Given the description of an element on the screen output the (x, y) to click on. 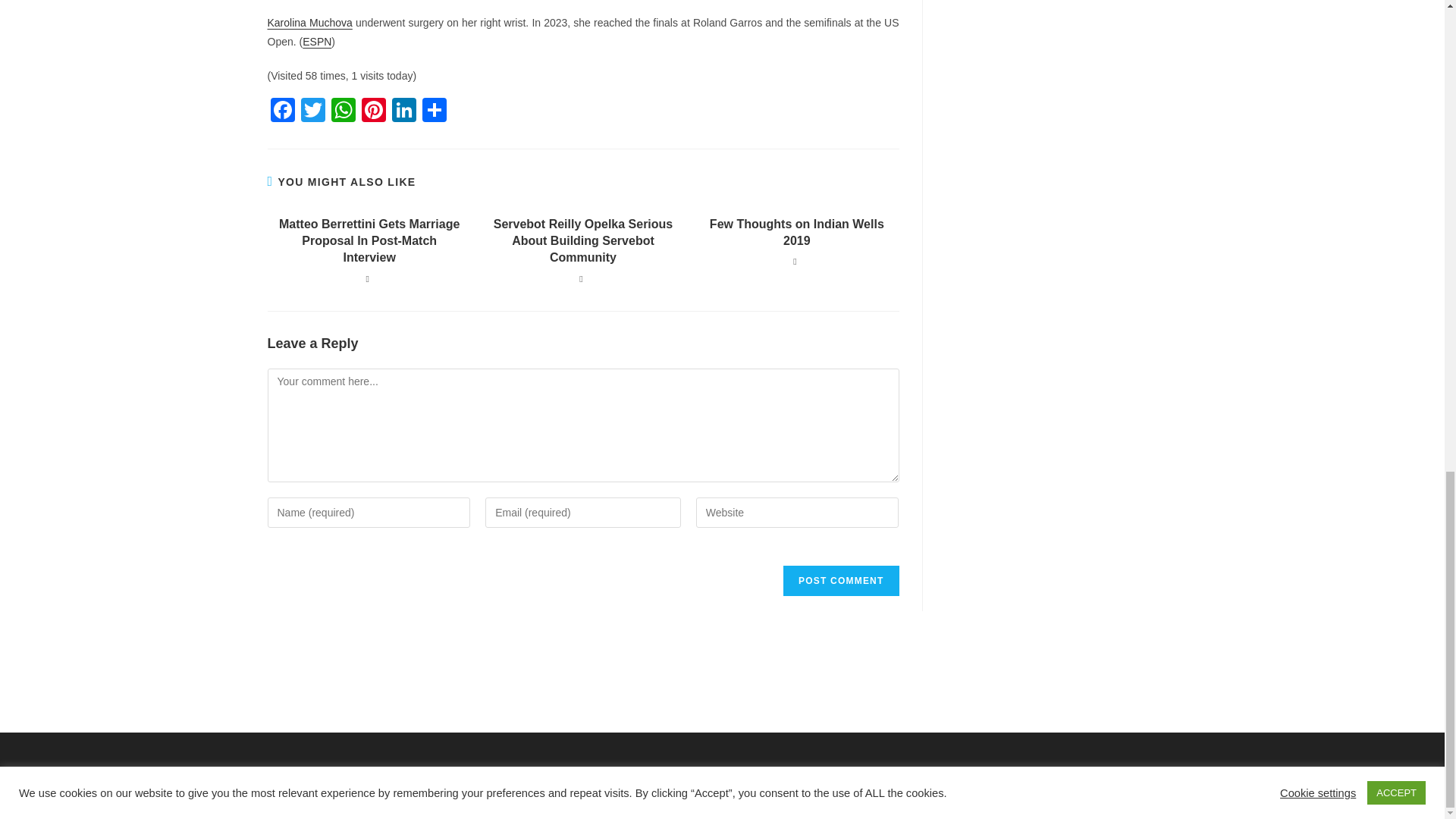
Twitter (312, 111)
WhatsApp (342, 111)
LinkedIn (403, 111)
Facebook (281, 111)
LinkedIn (403, 111)
Pinterest (373, 111)
WhatsApp (342, 111)
Pinterest (373, 111)
ESPN (316, 41)
Post Comment (840, 580)
